Given the description of an element on the screen output the (x, y) to click on. 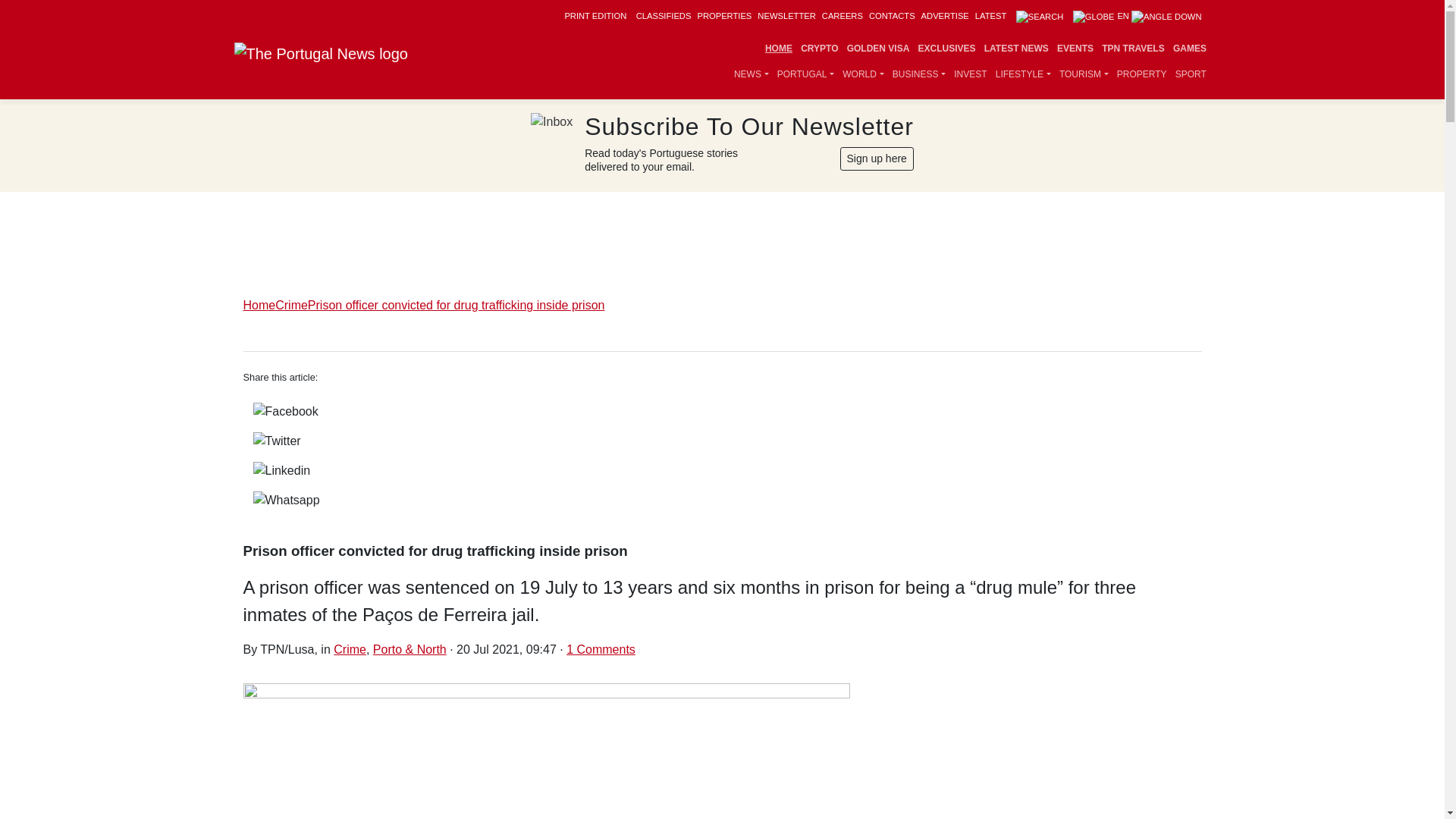
PRINT EDITION (595, 15)
NEWS (751, 73)
PORTUGAL (805, 73)
PROPERTIES (724, 15)
CONTACTS (892, 15)
LATEST NEWS (1015, 48)
GOLDEN VISA (878, 48)
CRYPTO (819, 48)
EXCLUSIVES (946, 48)
HOME (778, 48)
TPN TRAVELS (1133, 48)
GAMES (1189, 48)
LATEST (990, 15)
Prison officer convicted for drug trafficking inside prison (722, 751)
ADVERTISE (945, 15)
